Given the description of an element on the screen output the (x, y) to click on. 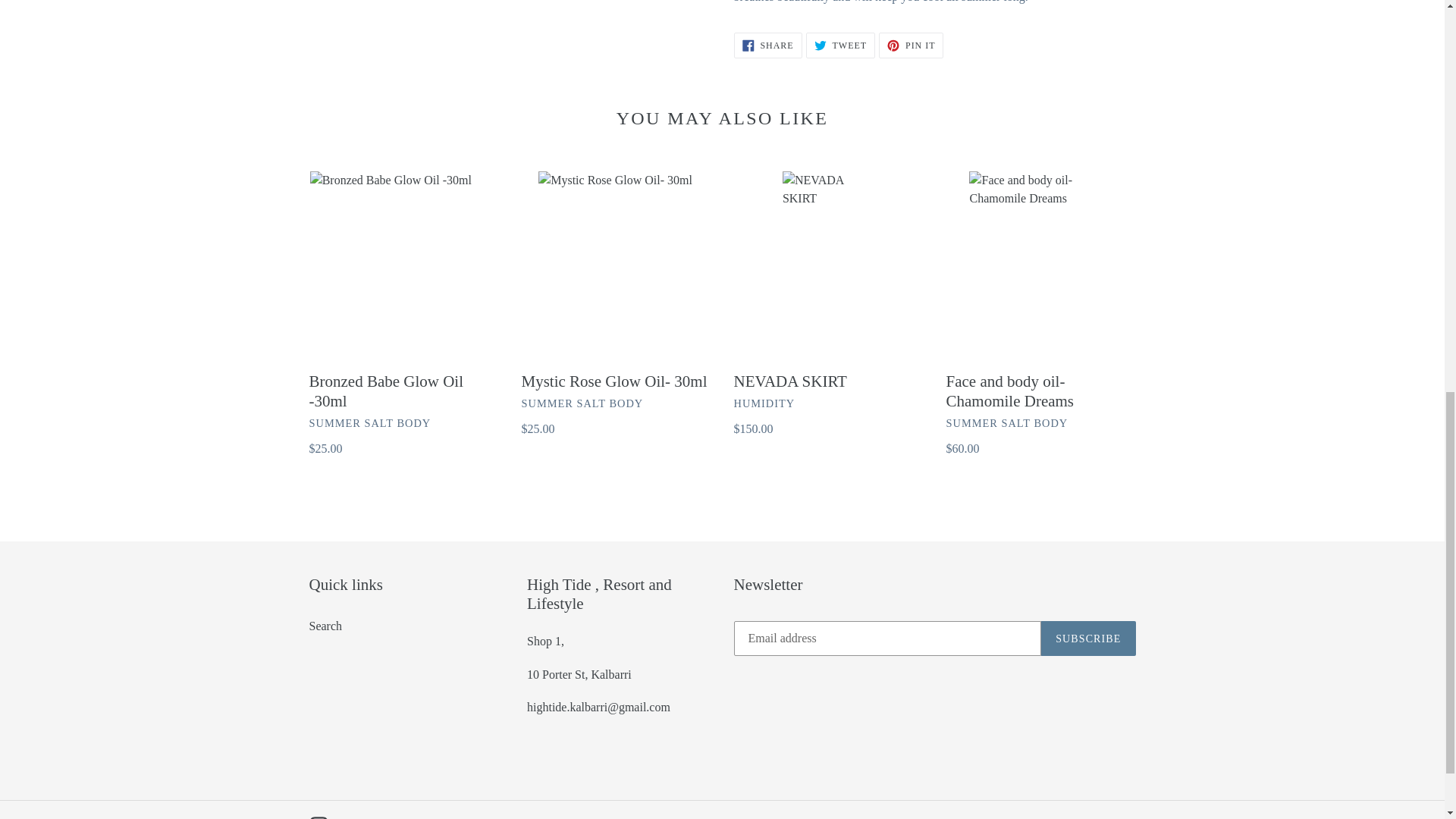
Instagram (318, 817)
SUBSCRIBE (1088, 638)
Bronzed Babe Glow Oil -30ml (403, 314)
Face and body oil- Chamomile Dreams (911, 45)
Search (840, 45)
Mystic Rose Glow Oil- 30ml (1040, 314)
NEVADA SKIRT (325, 625)
